Given the description of an element on the screen output the (x, y) to click on. 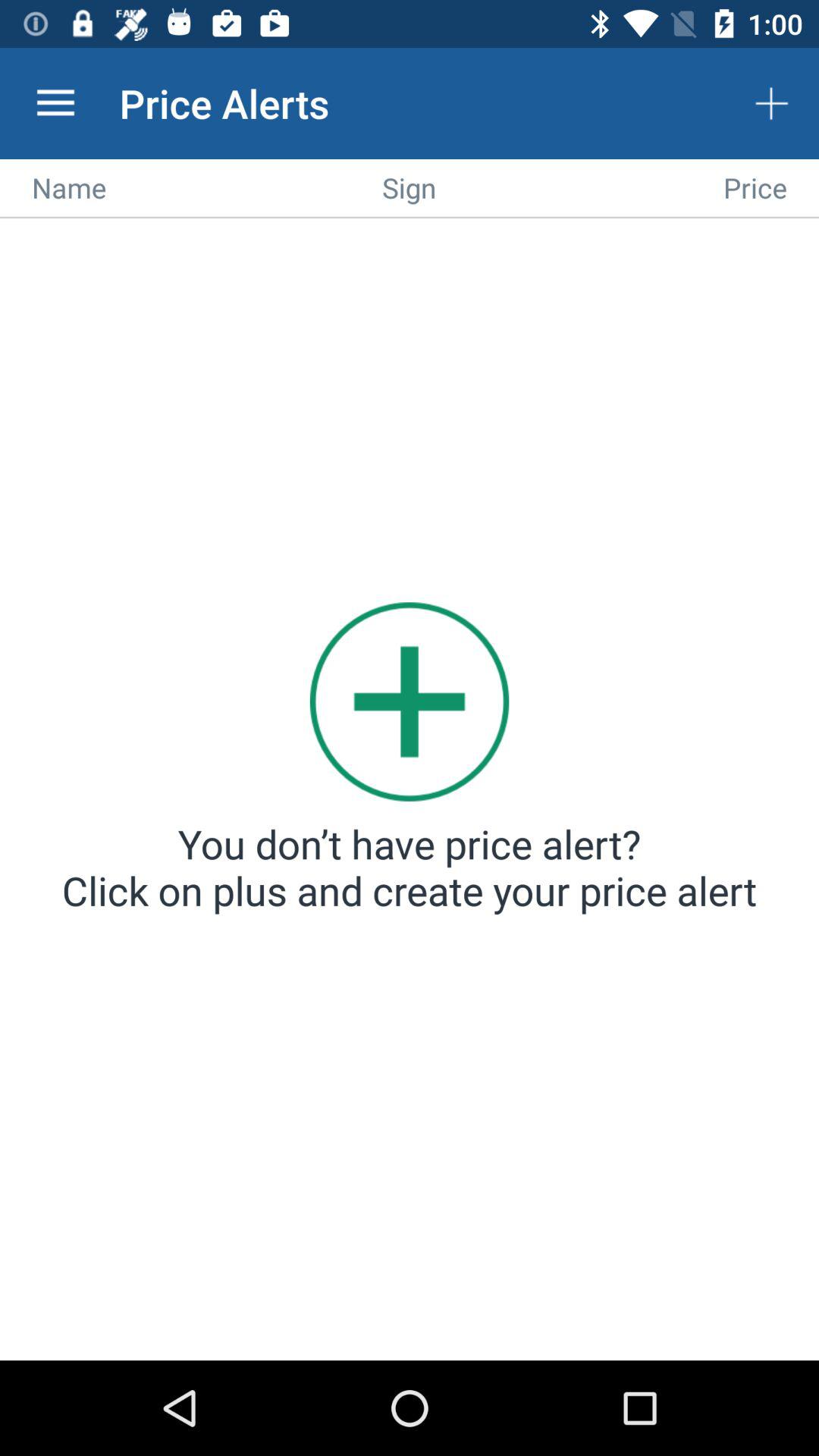
create new alert (409, 791)
